Given the description of an element on the screen output the (x, y) to click on. 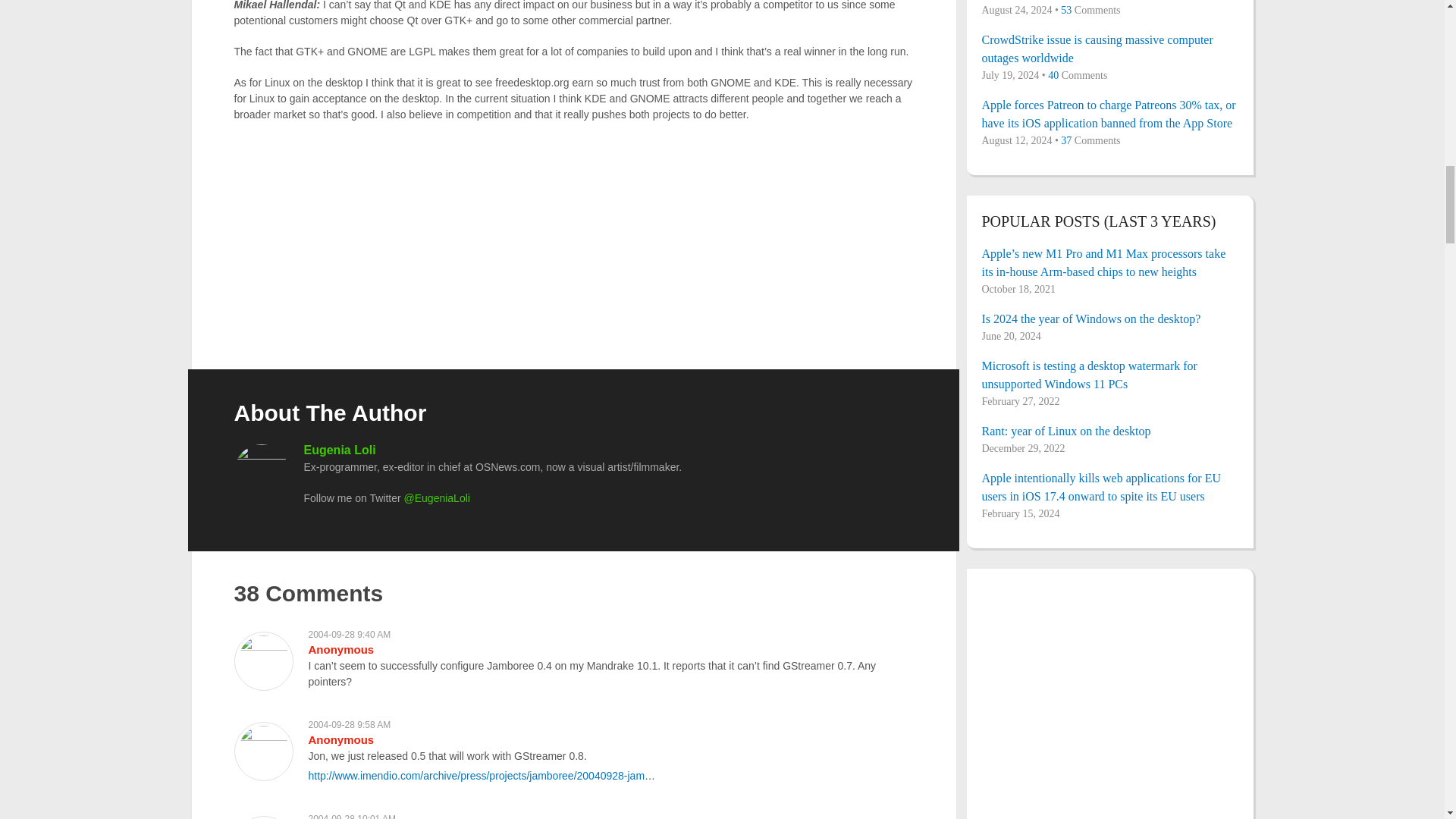
Anonymous (340, 649)
Eugenia Loli (338, 449)
Anonymous (340, 739)
